Given the description of an element on the screen output the (x, y) to click on. 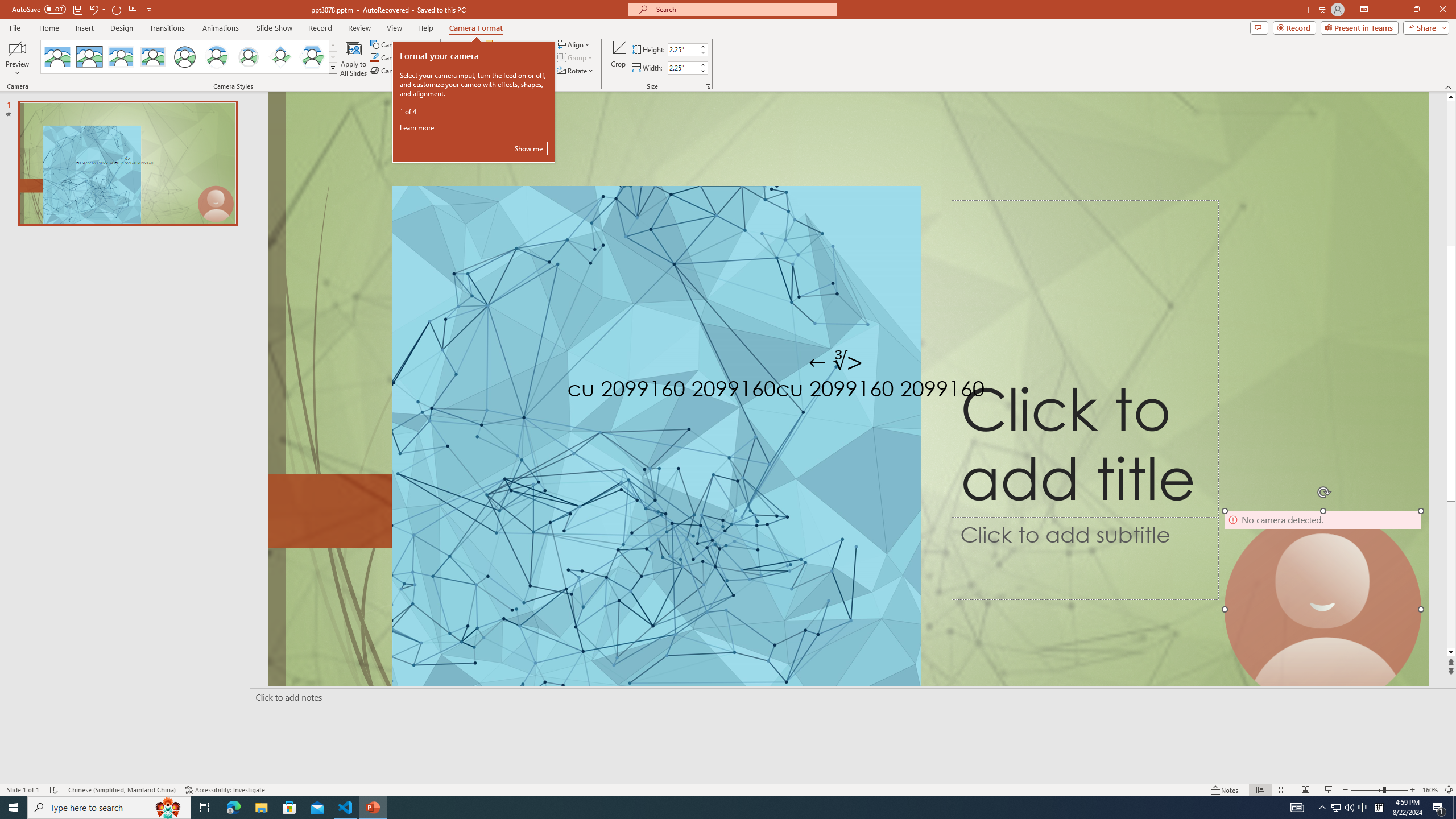
Camera Border Green, Accent 1 (374, 56)
Center Shadow Diamond (280, 56)
Size and Position... (707, 85)
Selection Pane... (513, 69)
